Given the description of an element on the screen output the (x, y) to click on. 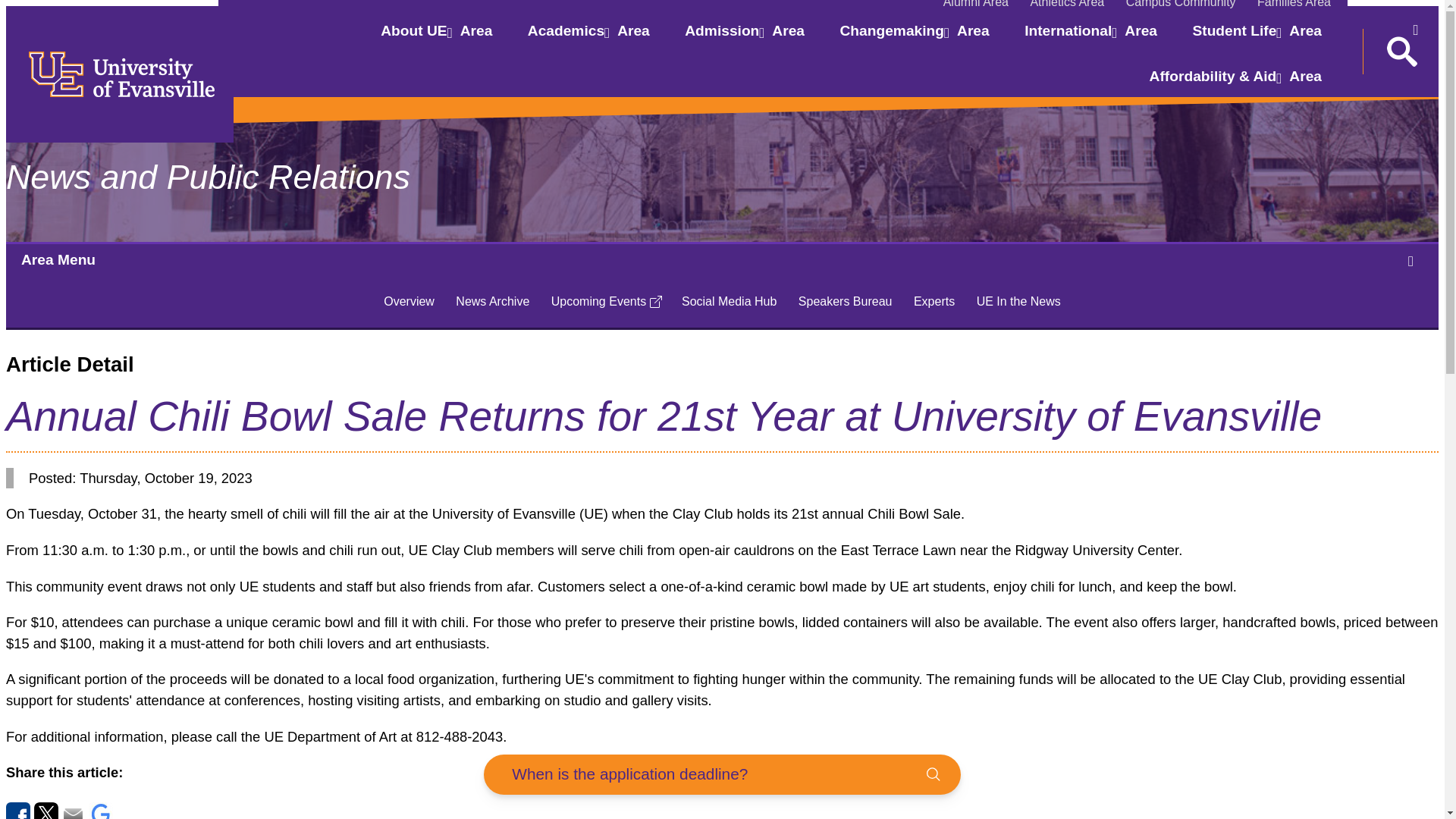
Campus Community (439, 39)
Alumni Area (748, 39)
Athletics Area (1180, 4)
Skip to main content (975, 4)
Families Area (1066, 4)
